Given the description of an element on the screen output the (x, y) to click on. 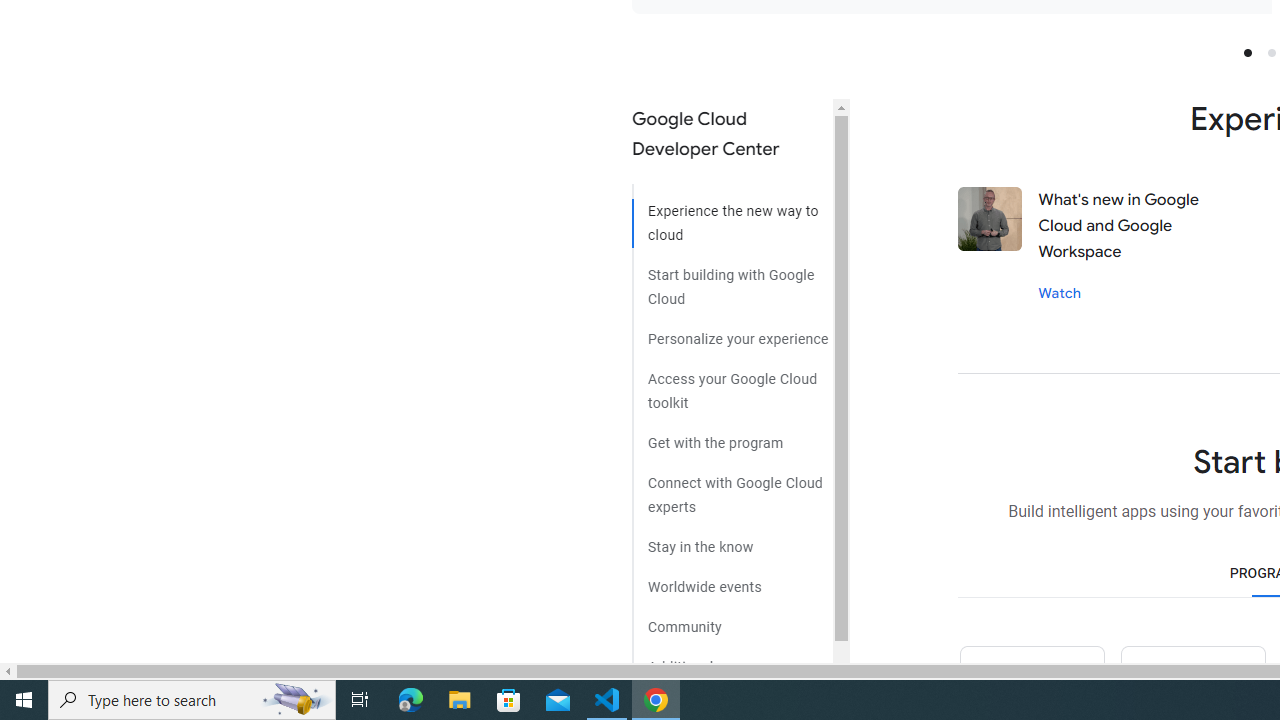
Worldwide events (732, 579)
